Given the description of an element on the screen output the (x, y) to click on. 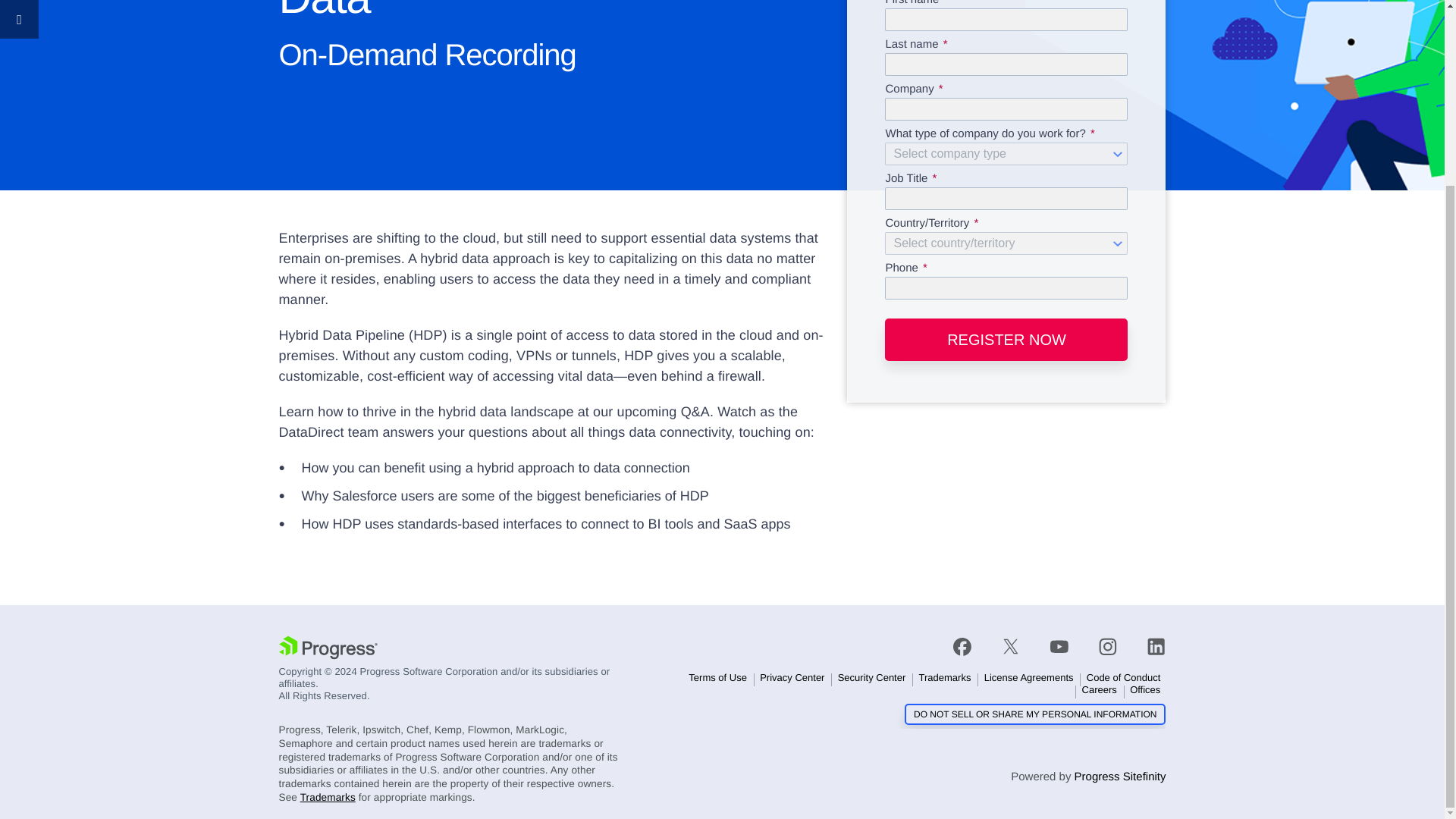
facebook (970, 646)
Instagram (1107, 646)
REGISTER NOW (1005, 339)
YouTube (1059, 646)
Code of Conduct (1123, 677)
X (1011, 646)
Trademarks (945, 677)
LinkedIn (1149, 646)
instagram (1107, 646)
X (1010, 647)
youtube (1059, 646)
Instagram (1107, 647)
Progress (328, 649)
Facebook (970, 646)
YouTube (1058, 647)
